Given the description of an element on the screen output the (x, y) to click on. 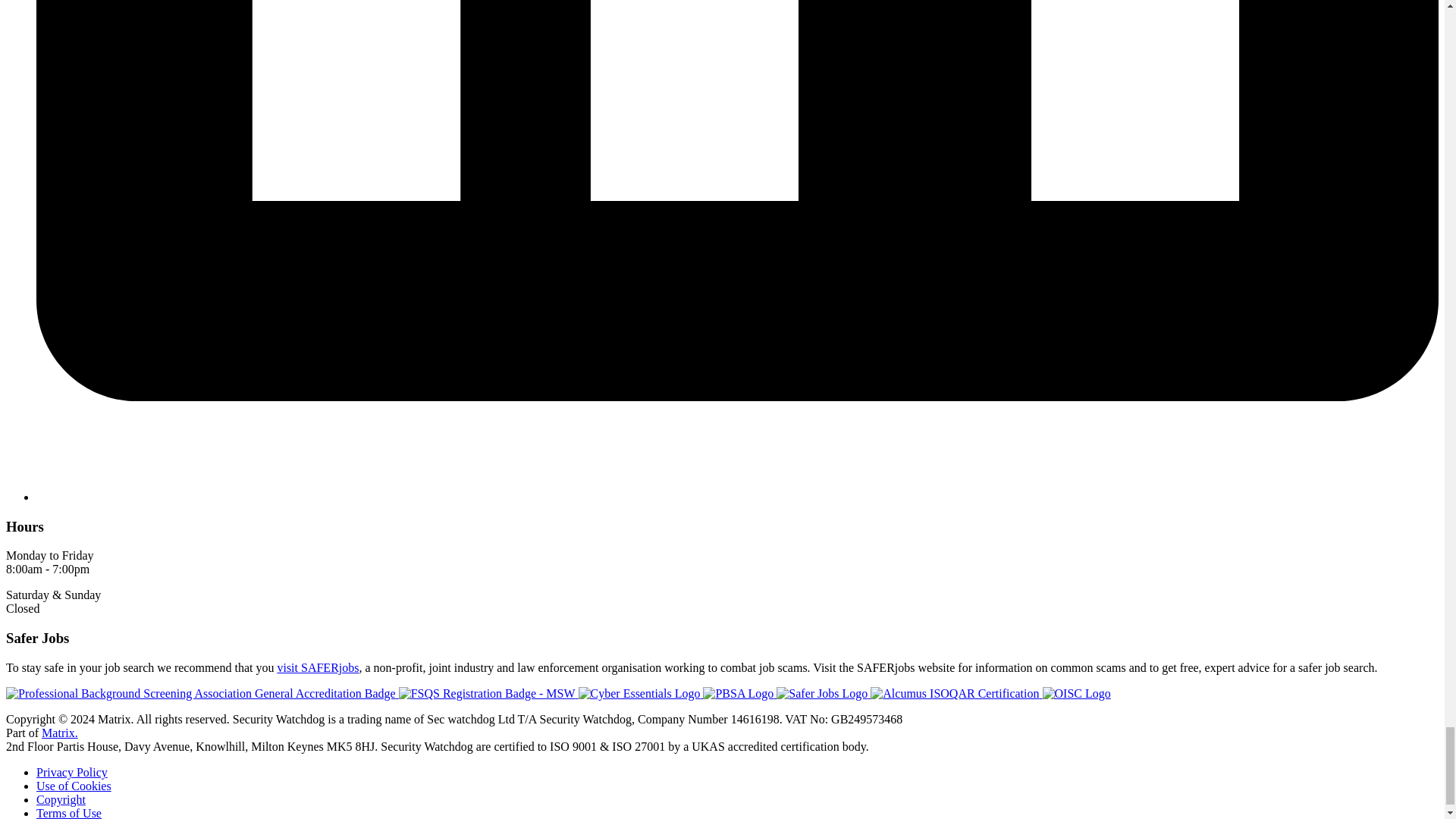
Copyright (60, 799)
Matrix. (60, 732)
Use of Cookies (74, 785)
Privacy Policy (71, 771)
visit SAFERjobs (317, 667)
